Given the description of an element on the screen output the (x, y) to click on. 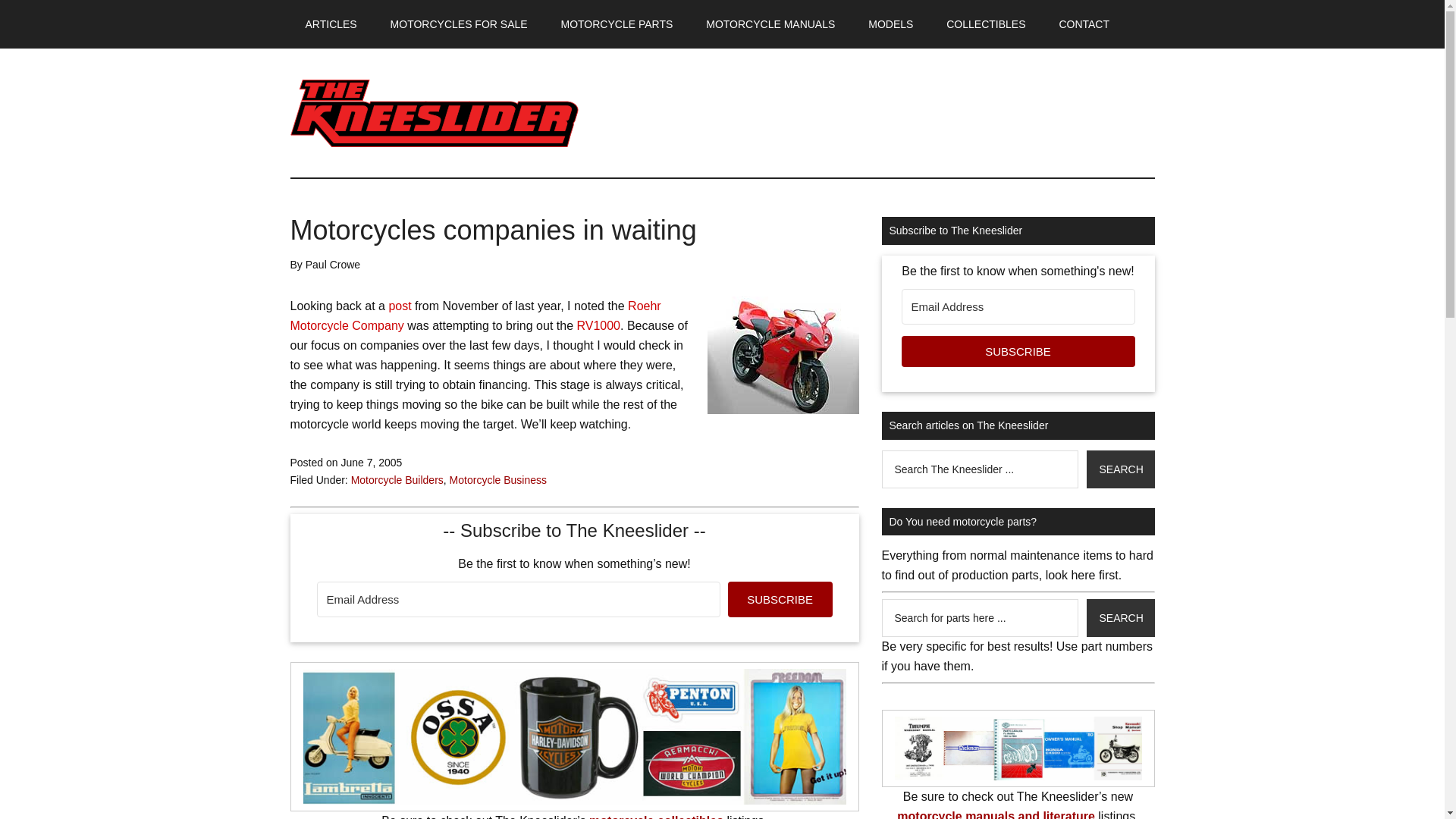
CONTACT (1083, 24)
motorcycle manuals and literature (995, 814)
Search (1120, 617)
MOTORCYCLES FOR SALE (459, 24)
Search (1120, 469)
Search (1120, 469)
RV1000 (598, 325)
post (401, 305)
Search (1120, 469)
Motorcycle Business (498, 479)
Roehr Motorcycle Company (475, 315)
motorcycle collectibles (656, 816)
RV 1000 (782, 355)
MOTORCYCLE MANUALS (770, 24)
COLLECTIBLES (986, 24)
